Given the description of an element on the screen output the (x, y) to click on. 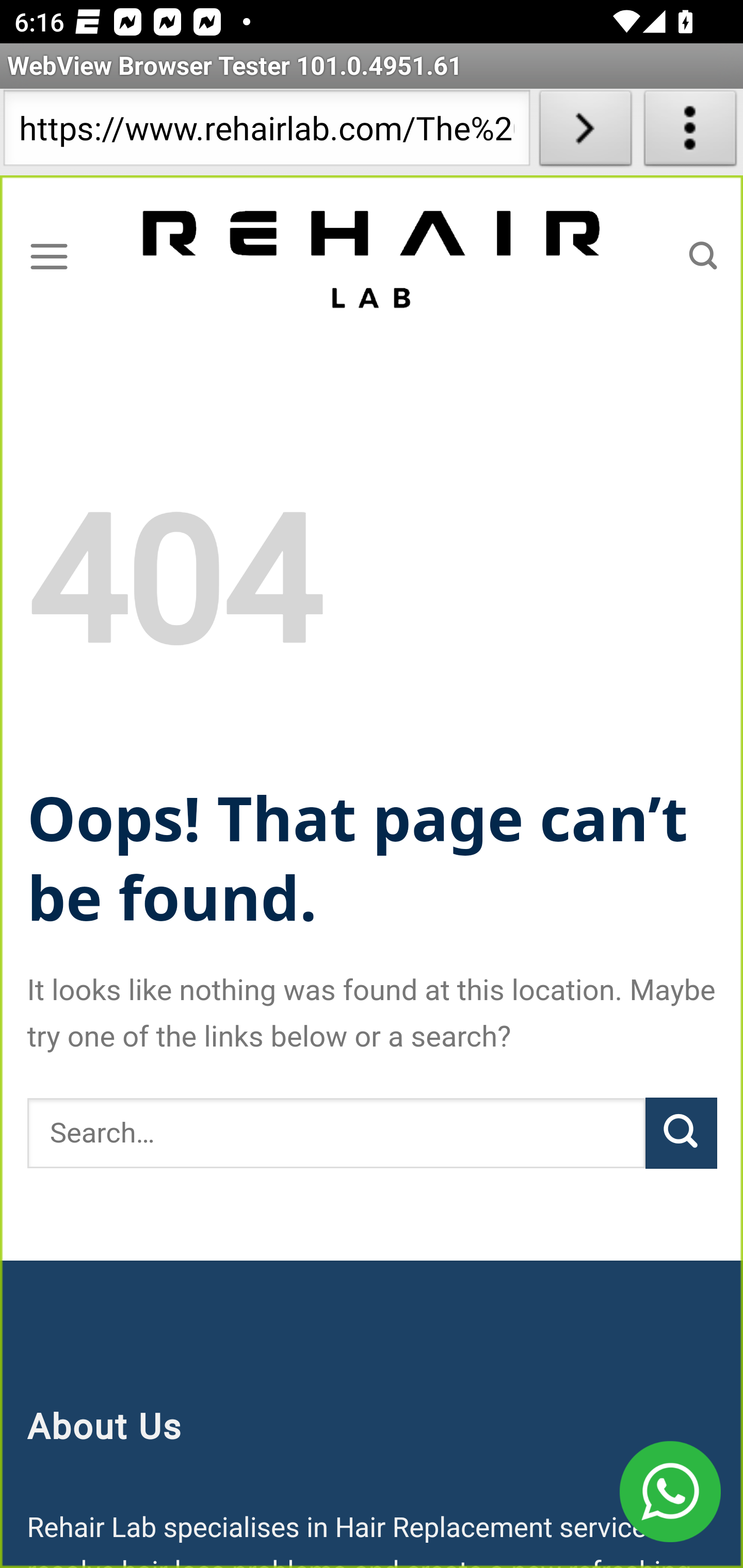
https://www.rehairlab.com/The%20Daily (266, 132)
Load URL (585, 132)
About WebView (690, 132)
Rehair Lab (372, 256)
Menu  (48, 256)
Search  (703, 256)
Submit (681, 1132)
wa.logo_-1 (669, 1491)
